Given the description of an element on the screen output the (x, y) to click on. 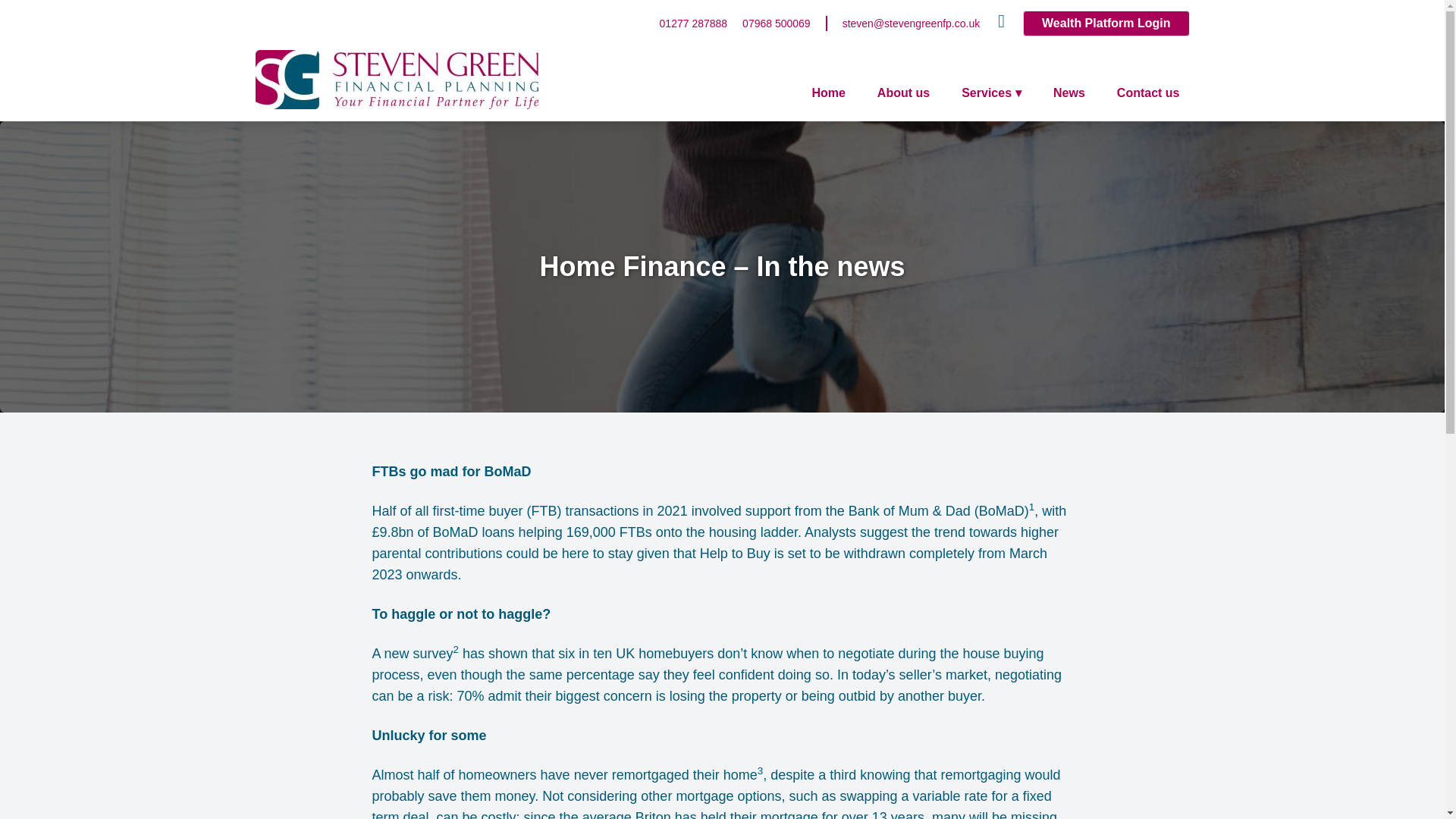
News (1068, 92)
Services (991, 92)
01277 287888 (693, 23)
07968 500069 (776, 23)
Contact us (1148, 92)
Home (827, 92)
About us (903, 92)
Wealth Platform Login (1106, 23)
